Given the description of an element on the screen output the (x, y) to click on. 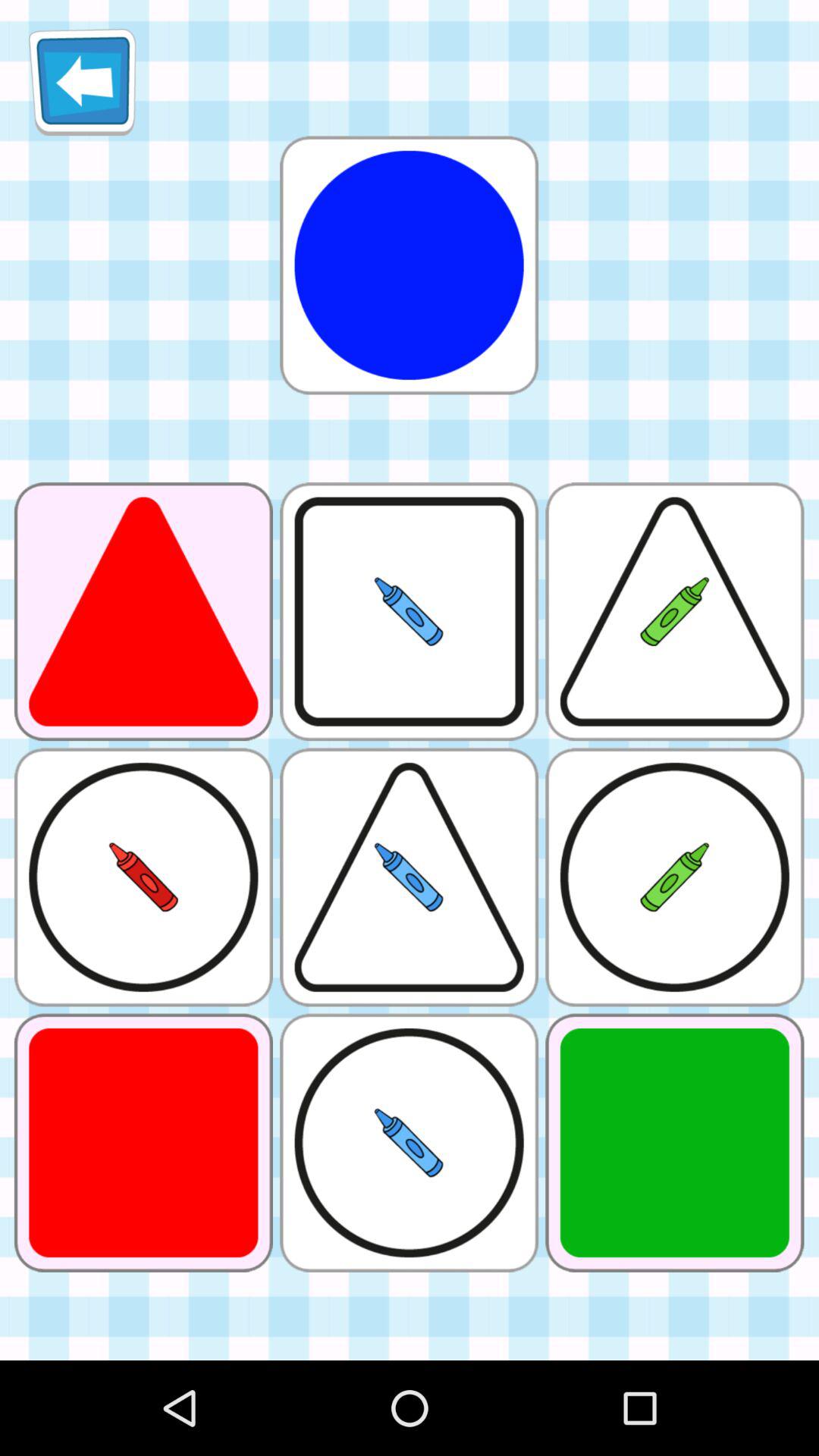
logon (409, 265)
